Given the description of an element on the screen output the (x, y) to click on. 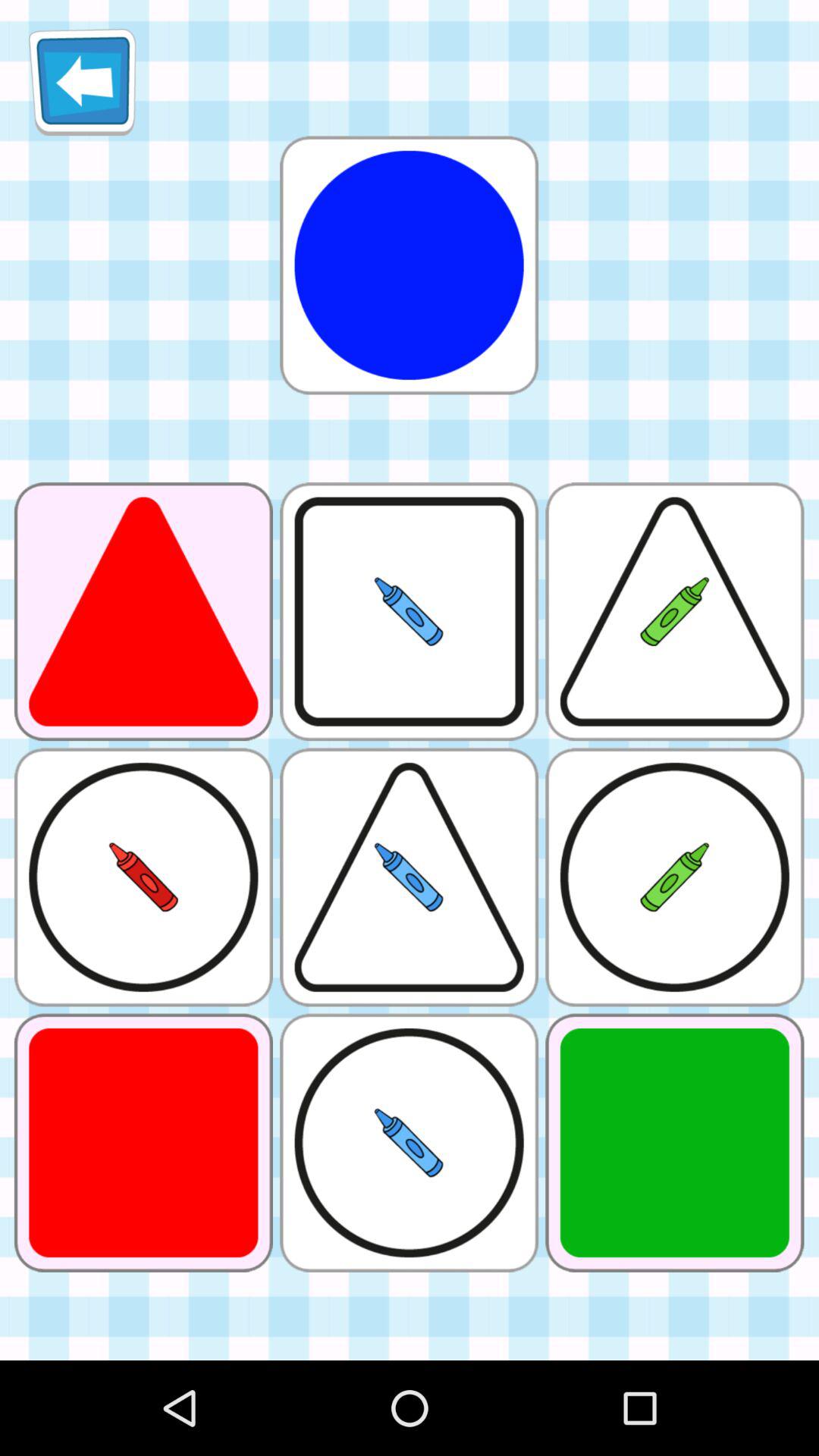
logon (409, 265)
